Given the description of an element on the screen output the (x, y) to click on. 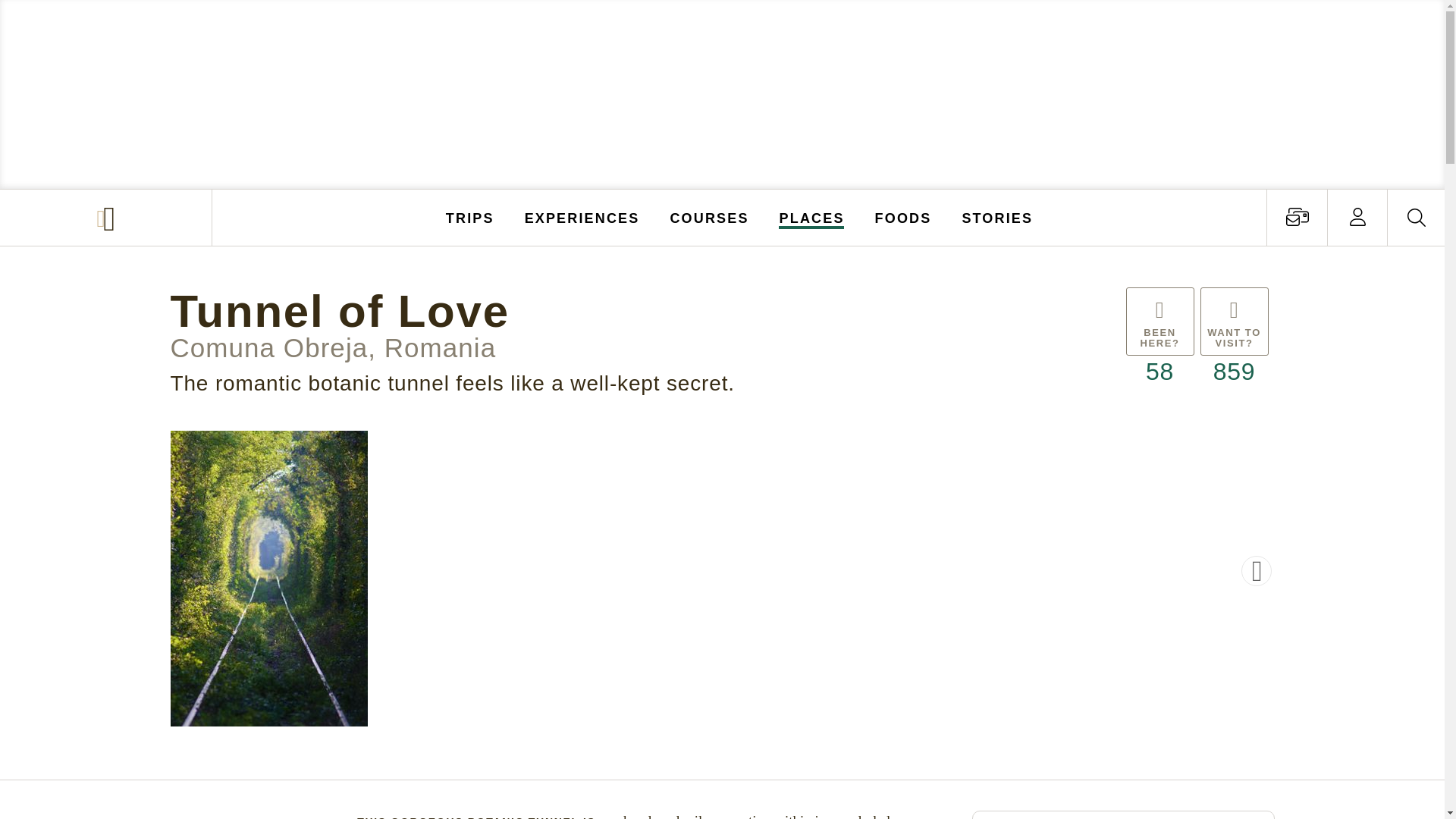
EXPERIENCES (582, 217)
COURSES (707, 217)
PLACES (812, 217)
TRIPS (469, 217)
